Given the description of an element on the screen output the (x, y) to click on. 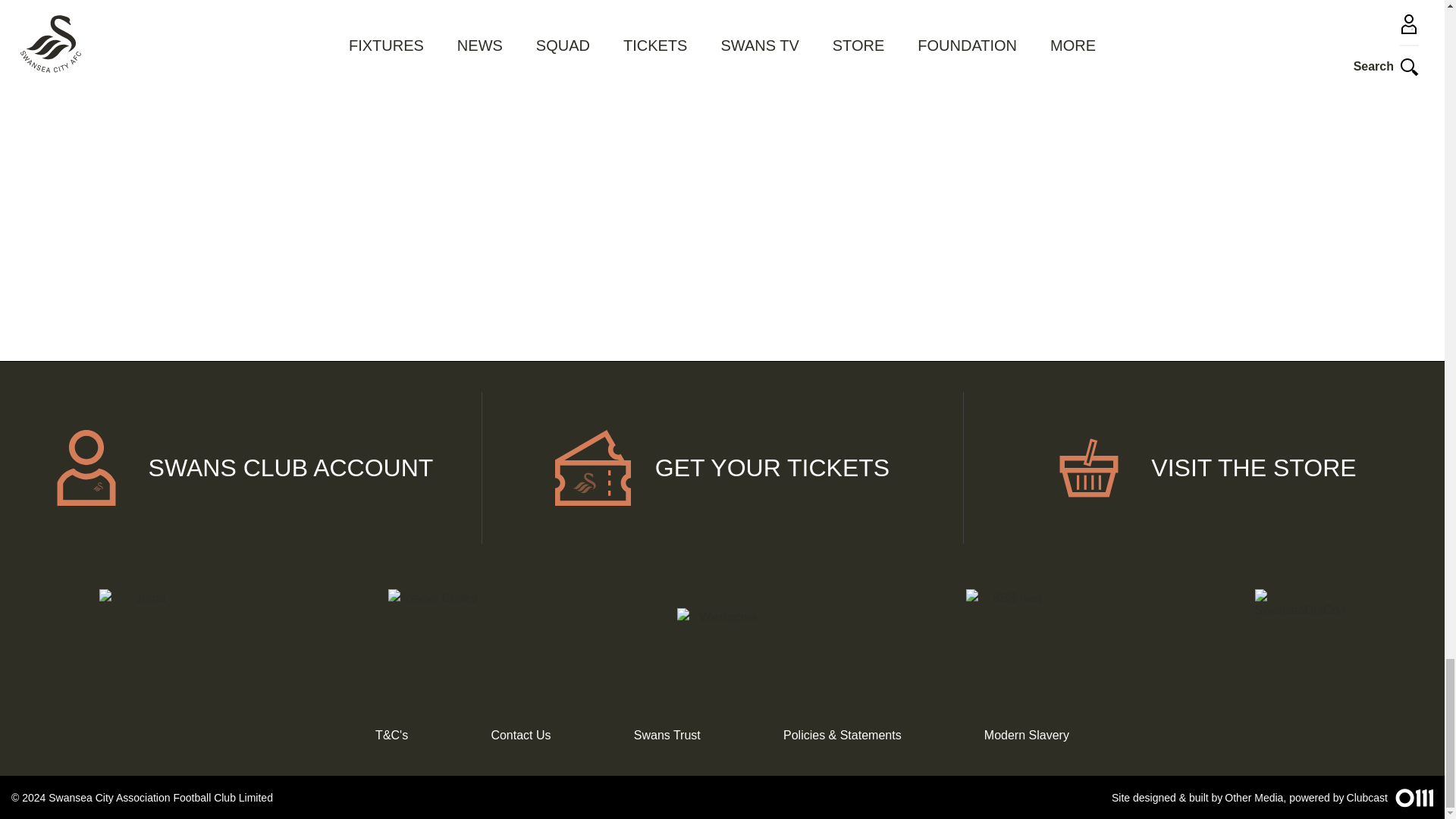
Swansea sponsor (722, 634)
Sign up or log into Swans Club Account (240, 467)
Swansea sponsor (1299, 634)
Swansea sponsor (432, 634)
Swansea sponsor (144, 634)
